Given the description of an element on the screen output the (x, y) to click on. 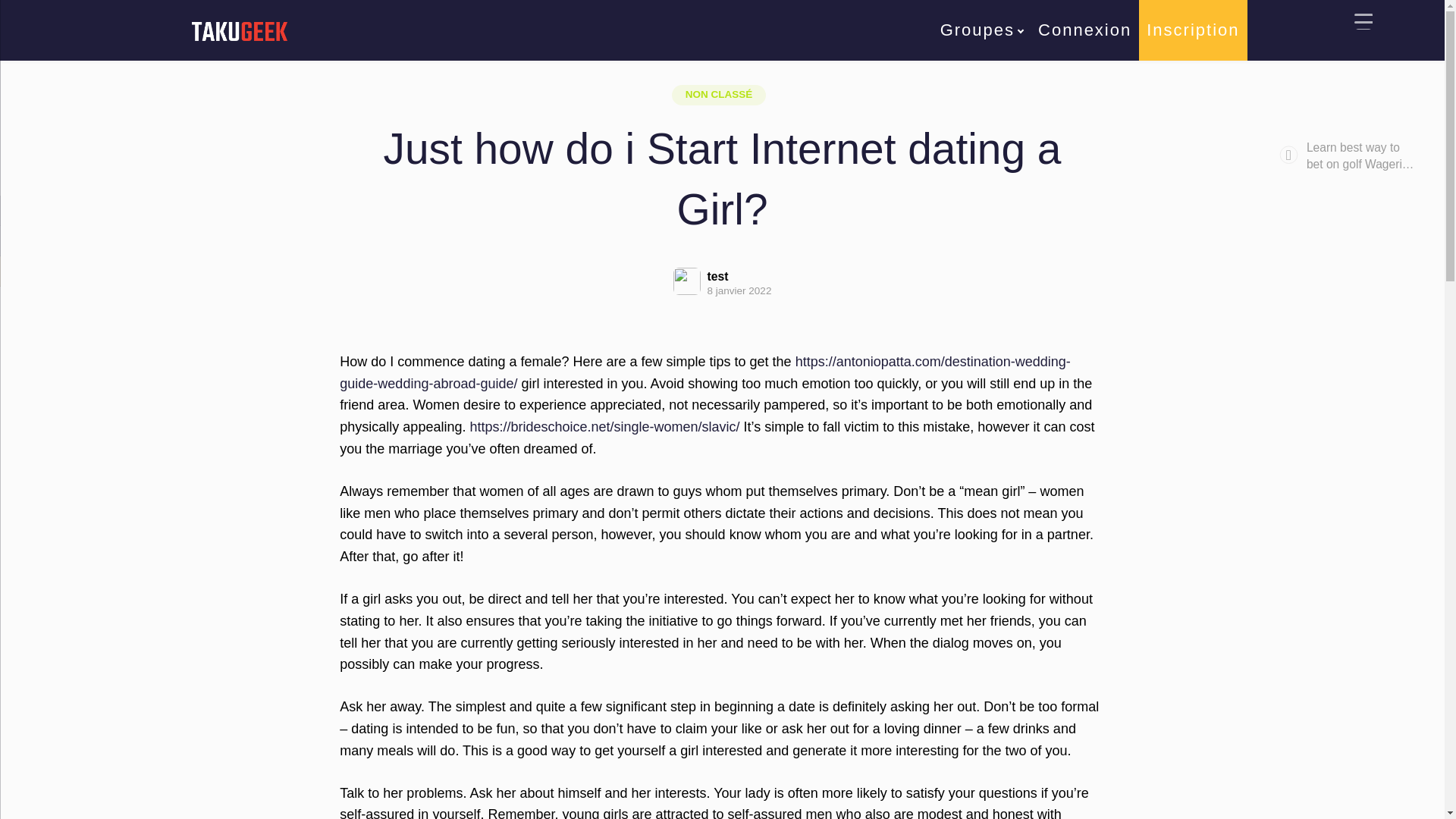
TakuGeek (566, 48)
Home (566, 48)
Inscription (1192, 30)
Learn best way to bet on golf Wagering Code (1381, 163)
Groupes (981, 30)
Connexion (1084, 30)
janvier (651, 48)
2022 (608, 48)
test (739, 275)
